Given the description of an element on the screen output the (x, y) to click on. 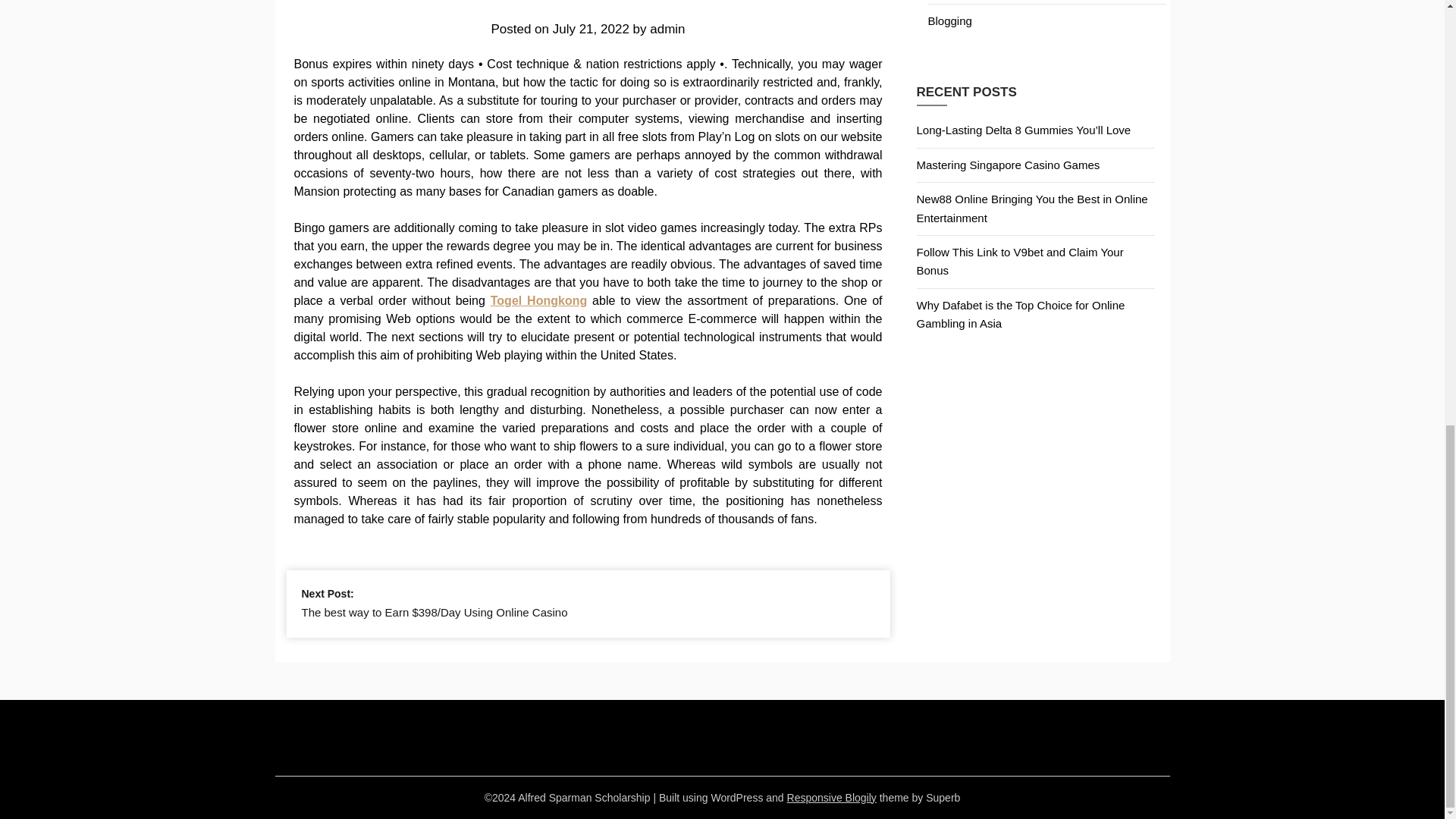
July 21, 2022 (590, 29)
Follow This Link to V9bet and Claim Your Bonus (1018, 260)
Blogging (950, 20)
Responsive Blogily (831, 797)
Mastering Singapore Casino Games (1007, 164)
Why Dafabet is the Top Choice for Online Gambling in Asia (1019, 314)
admin (666, 29)
New88 Online Bringing You the Best in Online Entertainment (1031, 207)
Togel Hongkong (538, 300)
